Given the description of an element on the screen output the (x, y) to click on. 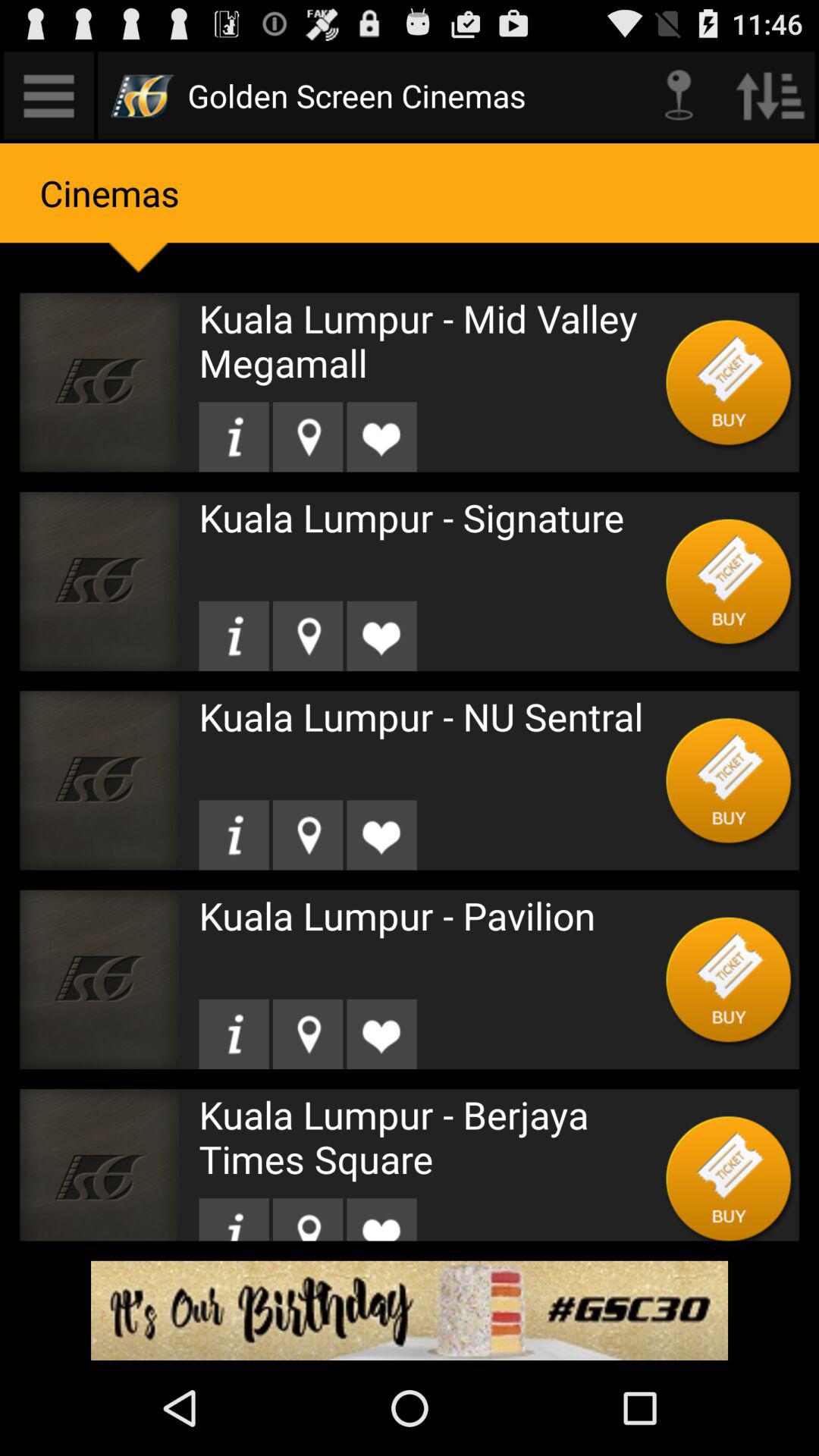
get information (234, 1034)
